Given the description of an element on the screen output the (x, y) to click on. 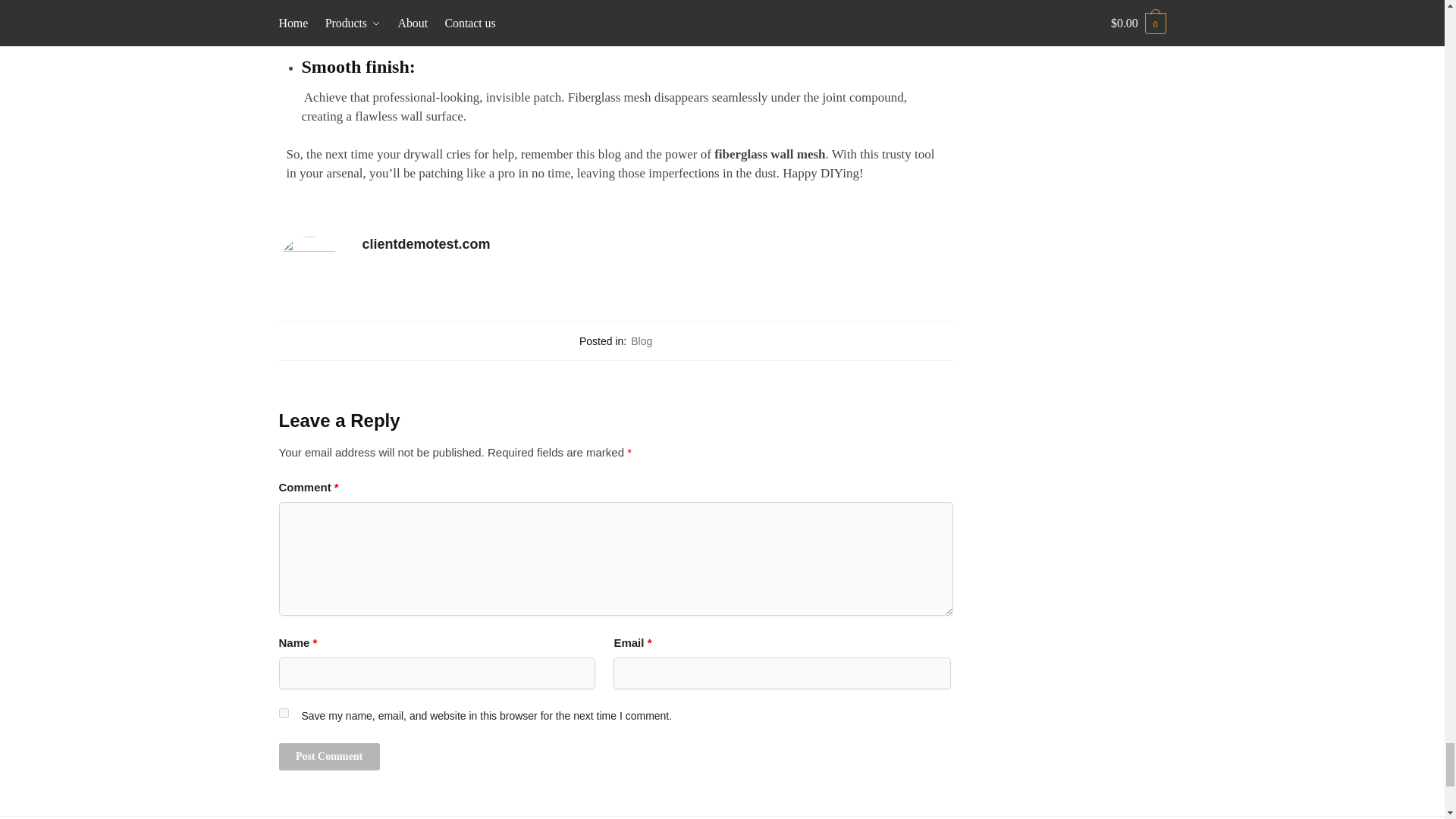
Post Comment (329, 756)
yes (283, 713)
clientdemotest.com (657, 244)
